Given the description of an element on the screen output the (x, y) to click on. 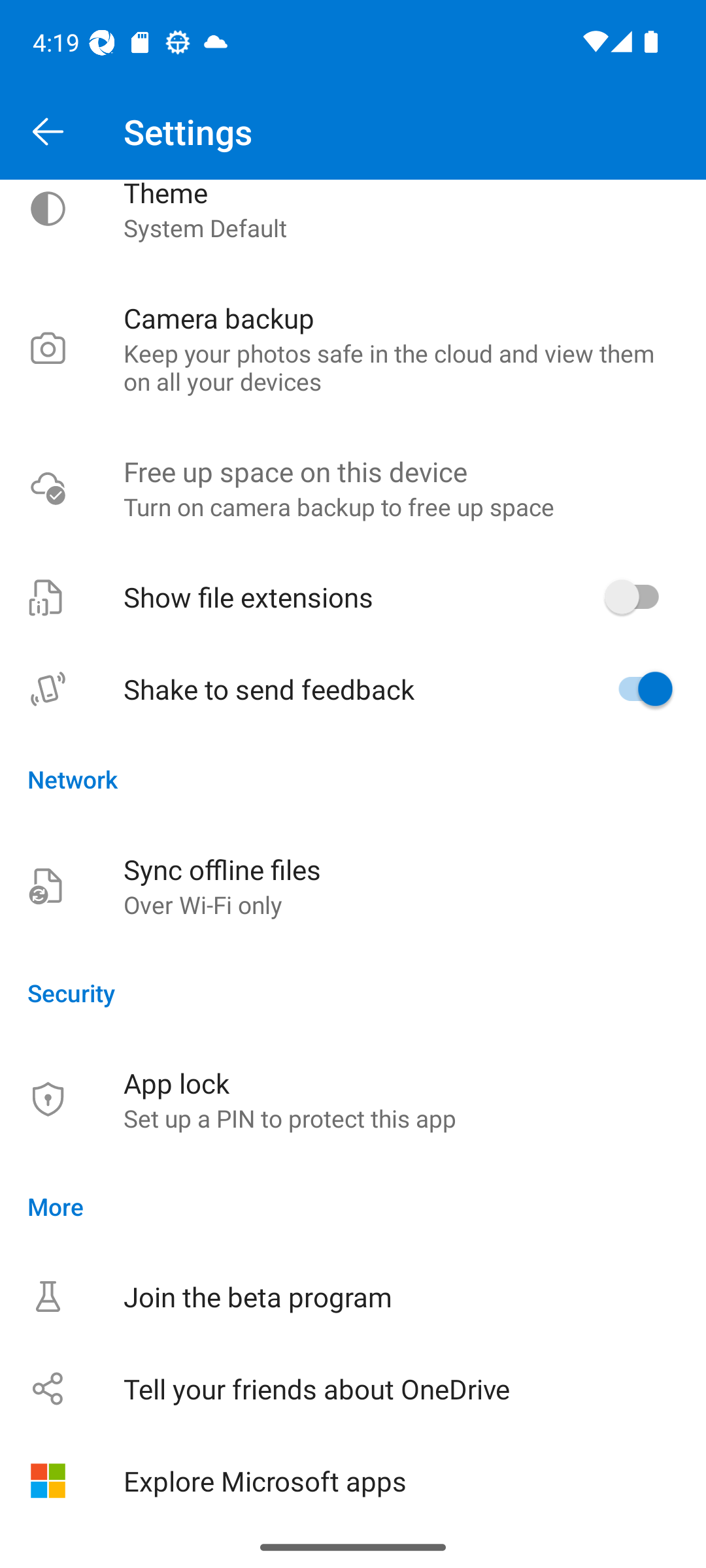
Navigate up Settings (353, 131)
Navigate up (48, 131)
Theme System Default (353, 225)
Show file extensions (353, 596)
Shake to send feedback (353, 688)
Network (353, 779)
Sync offline files Over Wi-Fi only (353, 885)
Security (353, 992)
App lock Set up a PIN to protect this app (353, 1098)
More (353, 1206)
Join the beta program (353, 1296)
Tell your friends about OneDrive (353, 1388)
Explore Microsoft apps (353, 1480)
